Given the description of an element on the screen output the (x, y) to click on. 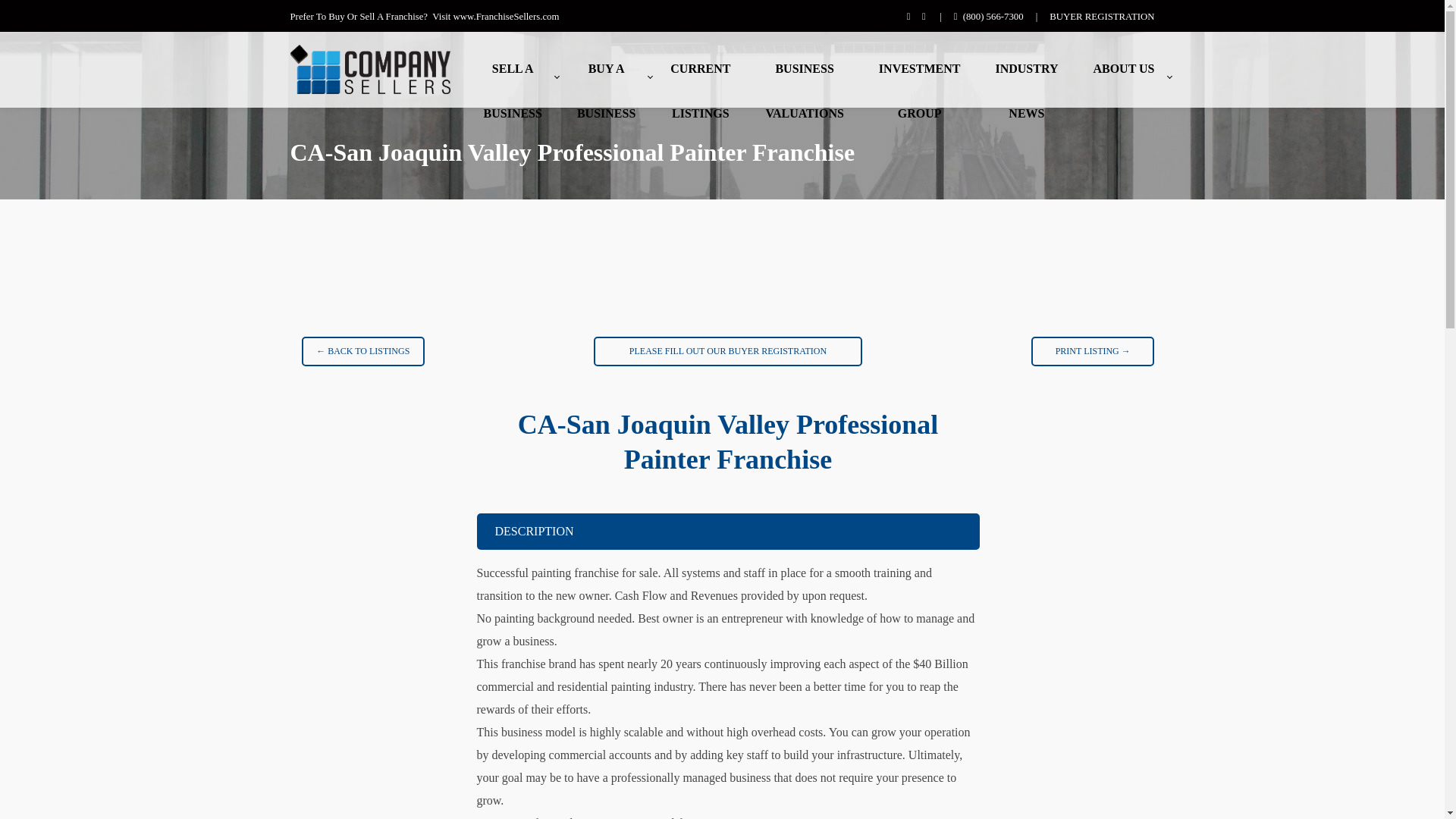
ABOUT US (606, 69)
BUYER REGISTRATION (1123, 69)
www.FranchiseSellers.com (803, 69)
